Given the description of an element on the screen output the (x, y) to click on. 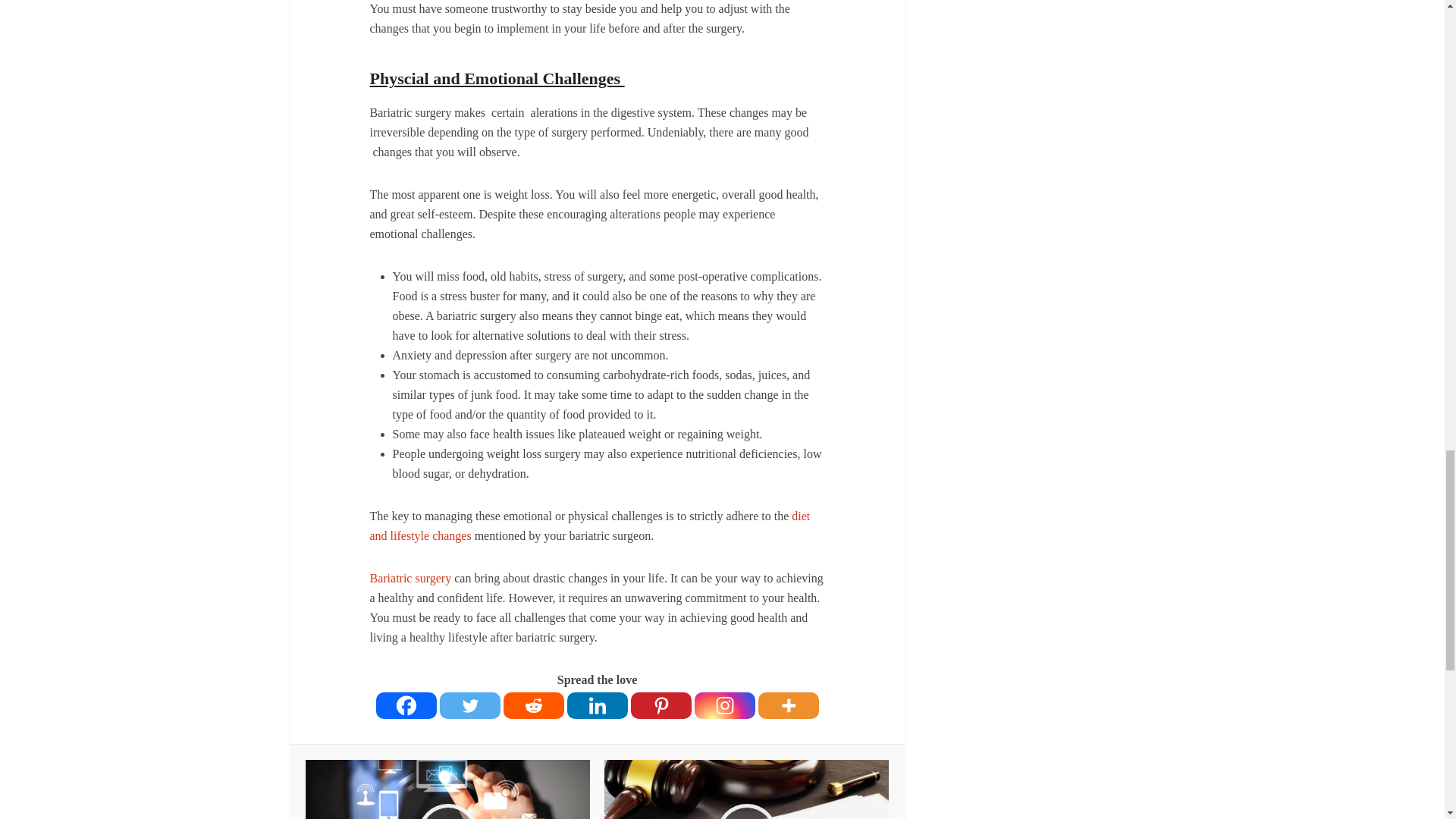
diet and lifestyle changes (589, 525)
 and Bariatric surgery (410, 577)
Navigating Wrongful Death Claims in Florida (746, 789)
Pinterest (660, 705)
Bariatric surgery (410, 577)
More (788, 705)
